Given the description of an element on the screen output the (x, y) to click on. 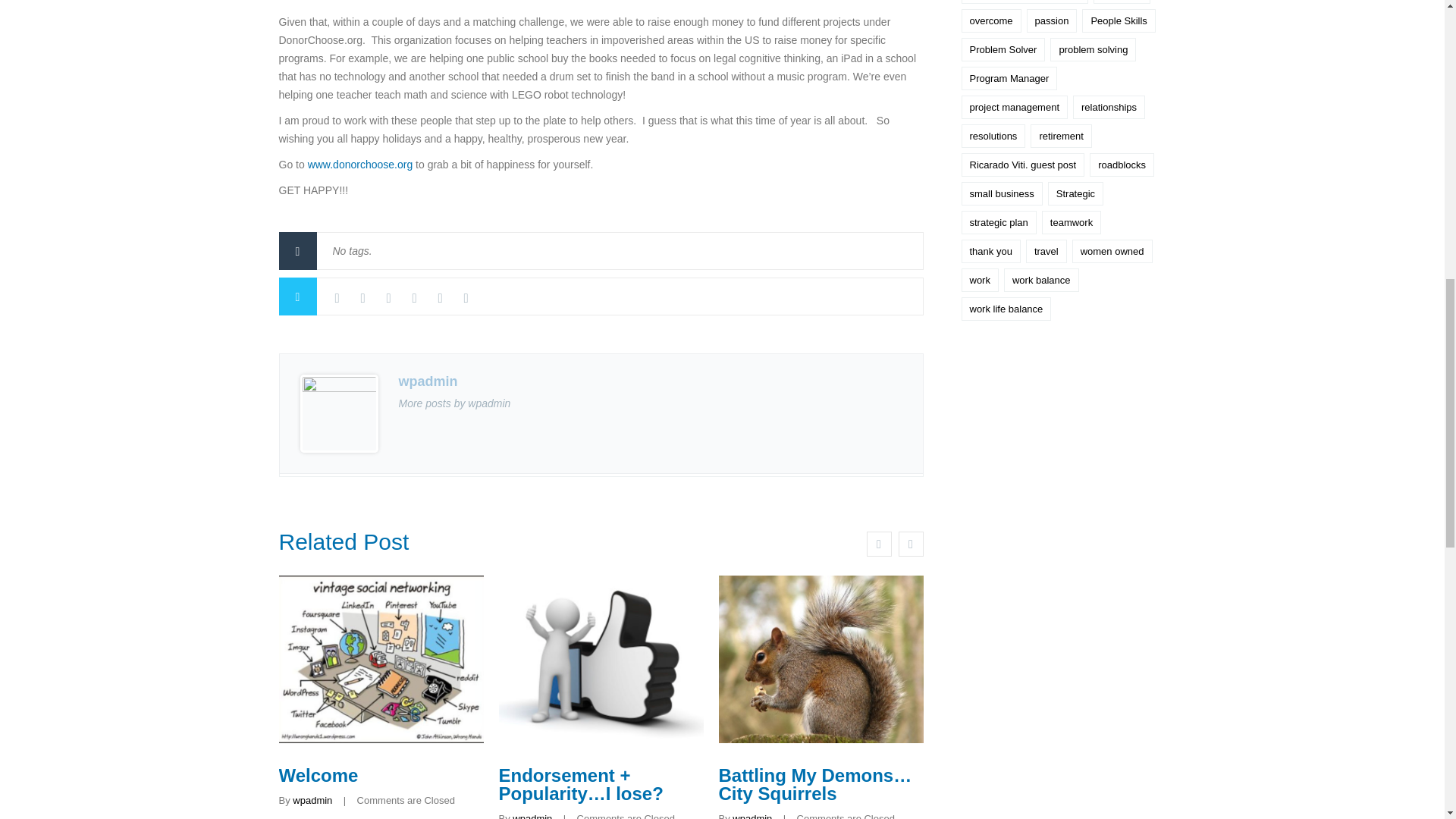
www.donorchoose.org (360, 164)
Posts by wpadmin (751, 816)
More posts by wpadmin (454, 403)
wpadmin (751, 816)
Posts by wpadmin (311, 799)
wpadmin (311, 799)
wpadmin (531, 816)
Posts by wpadmin (531, 816)
Welcome (318, 774)
